Given the description of an element on the screen output the (x, y) to click on. 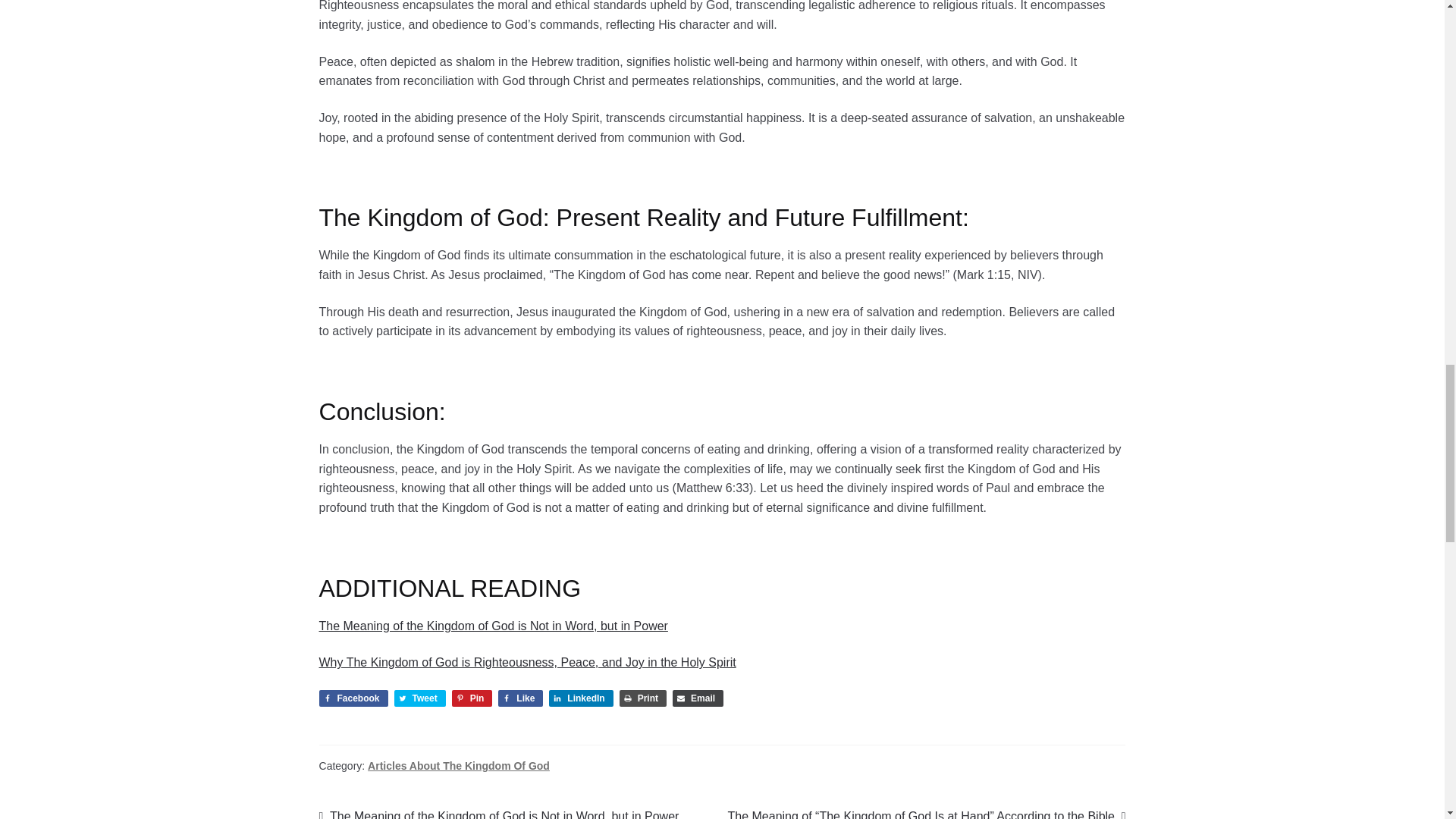
Share via Email (697, 698)
Share on Twitter (419, 698)
Share on Pinterest (472, 698)
Email (697, 698)
Print (643, 698)
Share on LinkedIn (580, 698)
Tweet (419, 698)
Print this Page (643, 698)
Facebook (353, 698)
LinkedIn (580, 698)
Email (697, 698)
Like (520, 698)
Pin (472, 698)
Share on Facebook (353, 698)
